Given the description of an element on the screen output the (x, y) to click on. 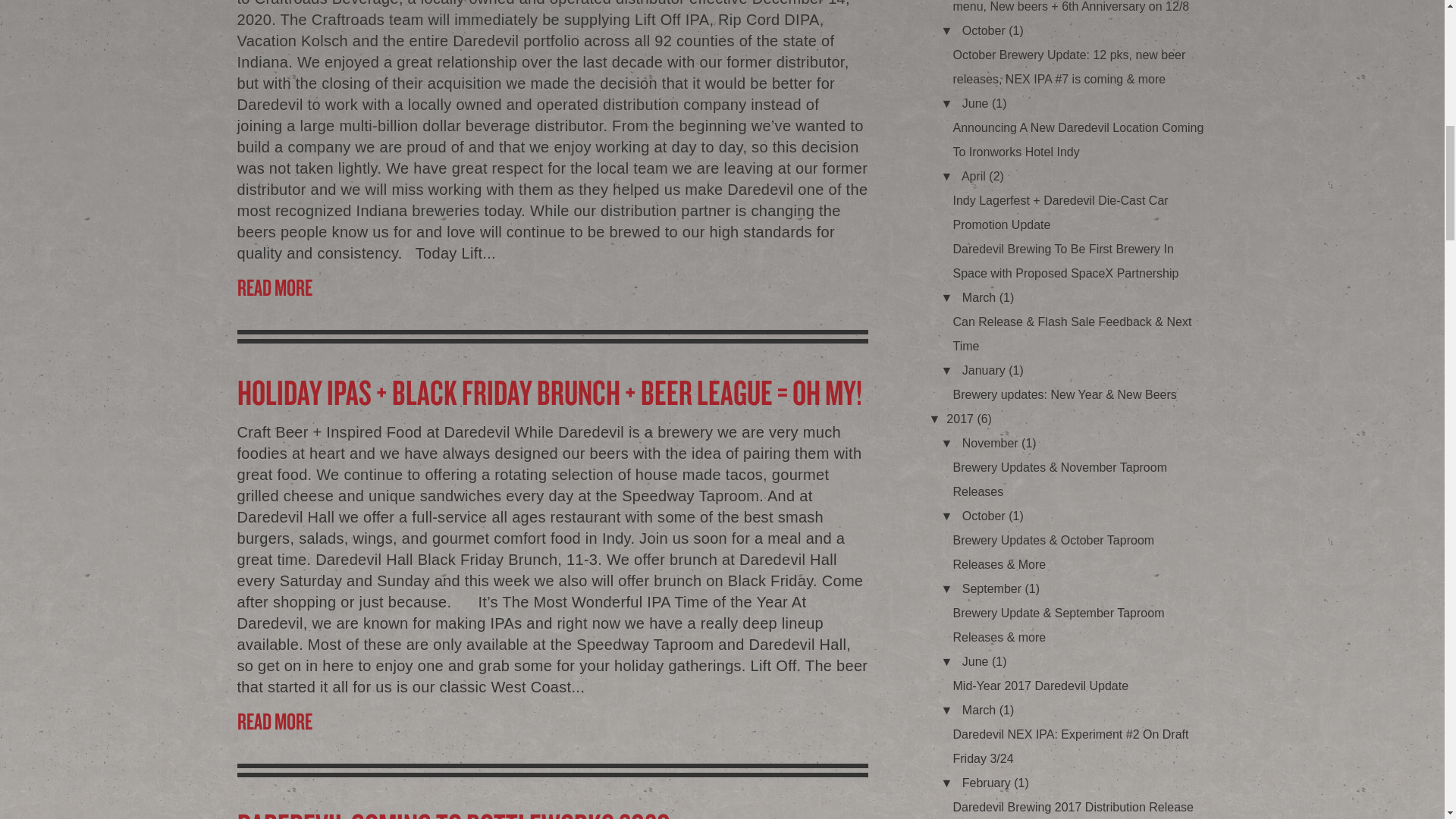
READ MORE (551, 721)
DAREDEVIL COMING TO BOTTLEWORKS 2020 (551, 813)
READ MORE (551, 287)
